Given the description of an element on the screen output the (x, y) to click on. 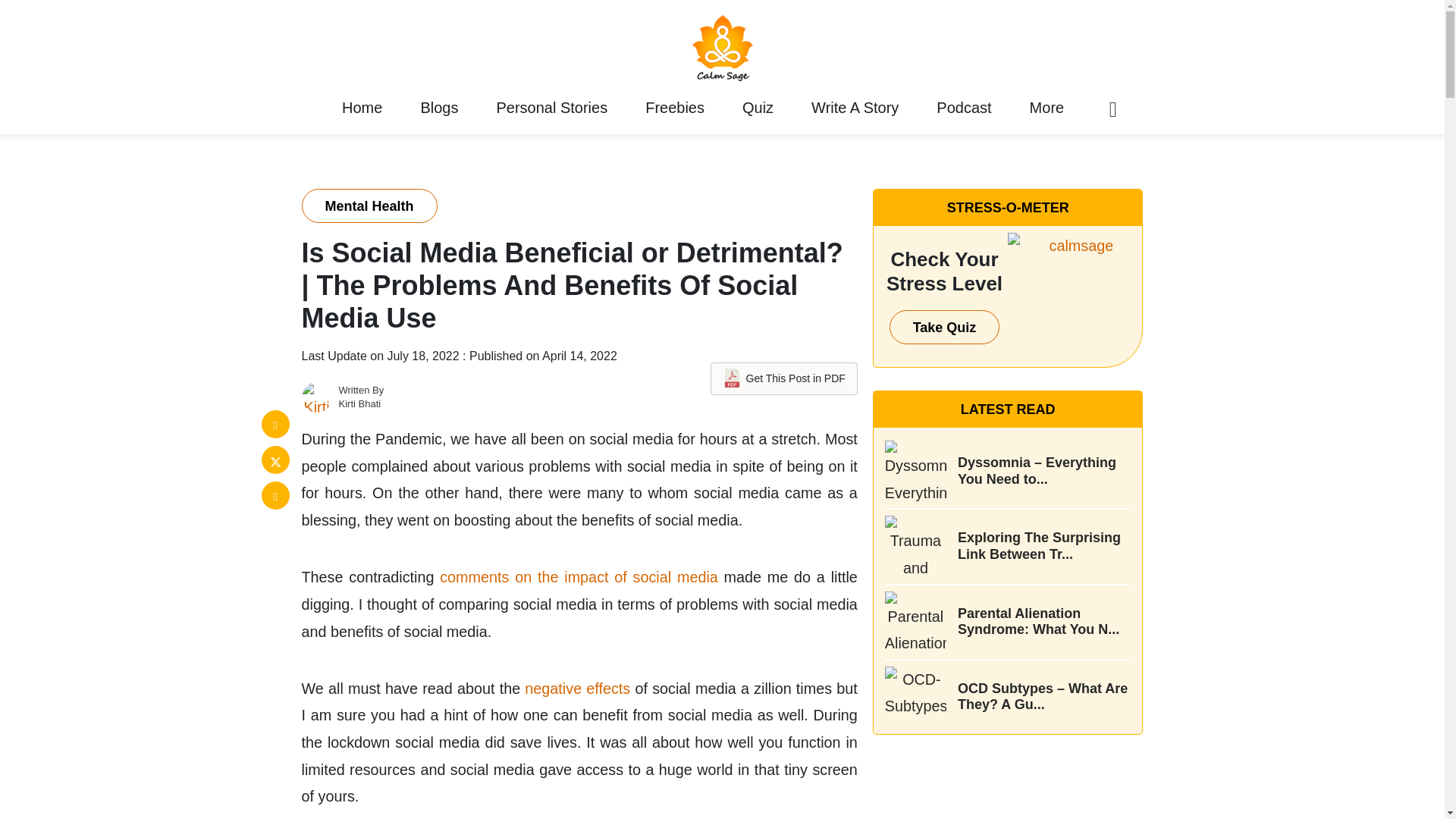
Mental Health (369, 205)
Personal Stories (551, 107)
negative effects (577, 688)
Kirti Bhati (358, 403)
Written By (360, 389)
Home (361, 107)
SEARCH (1075, 408)
Get This Post in PDF (783, 378)
comments on the impact of social media (578, 576)
Quiz (757, 107)
